Given the description of an element on the screen output the (x, y) to click on. 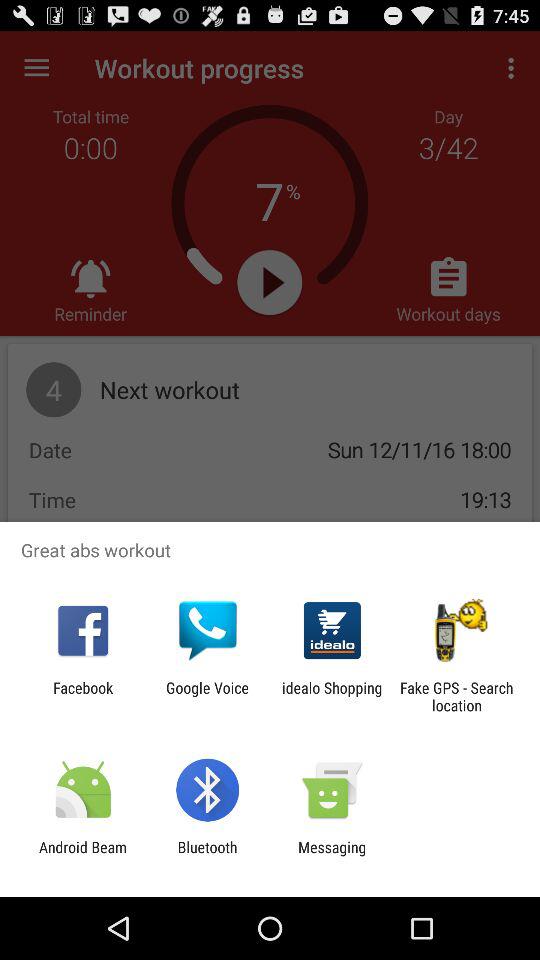
click icon to the right of the google voice app (331, 696)
